Given the description of an element on the screen output the (x, y) to click on. 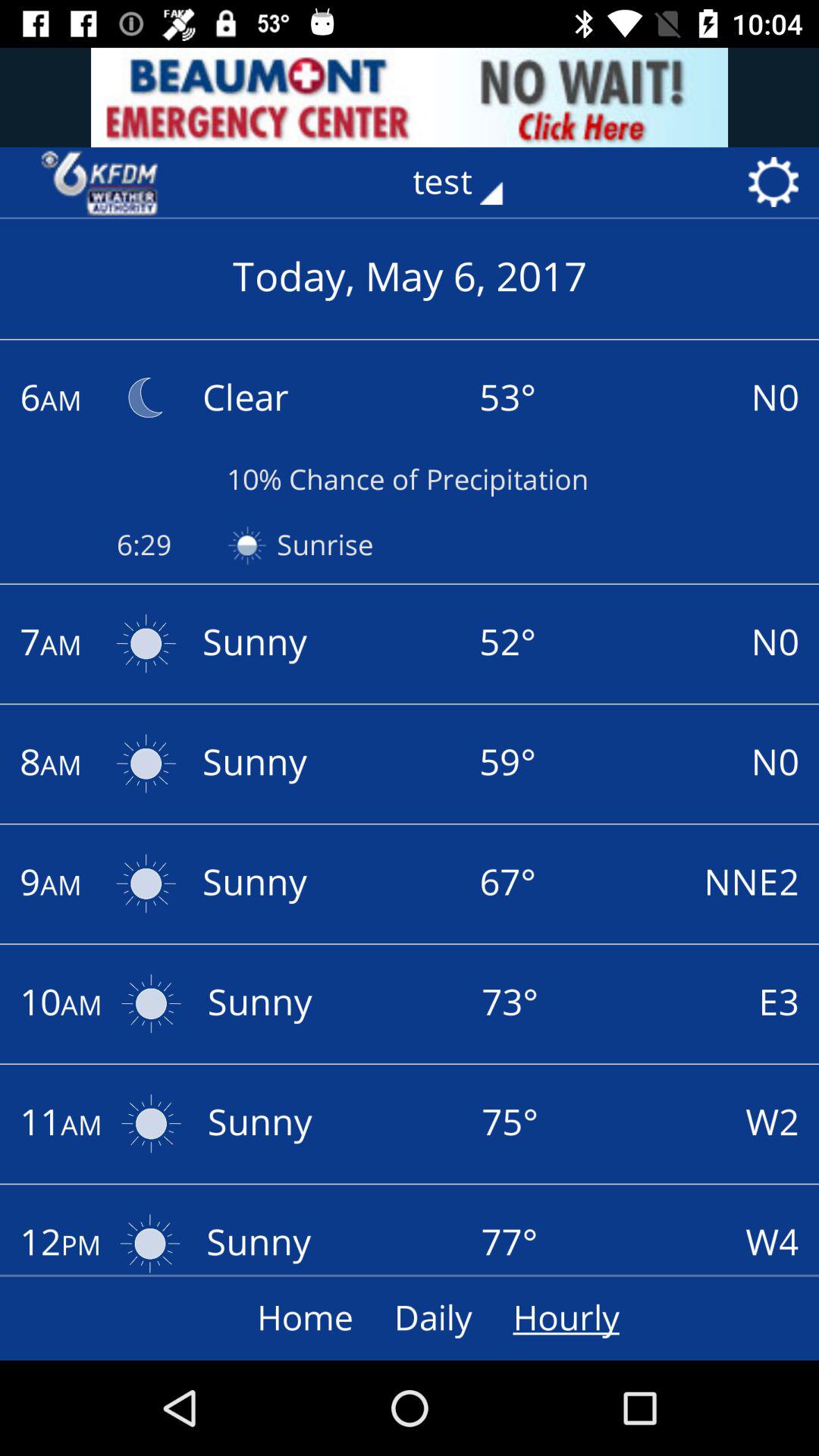
click on image right to 12 pm (150, 1239)
select the symbol right to 11 am (151, 1123)
click on the button which is to the left of settings button (468, 181)
